Given the description of an element on the screen output the (x, y) to click on. 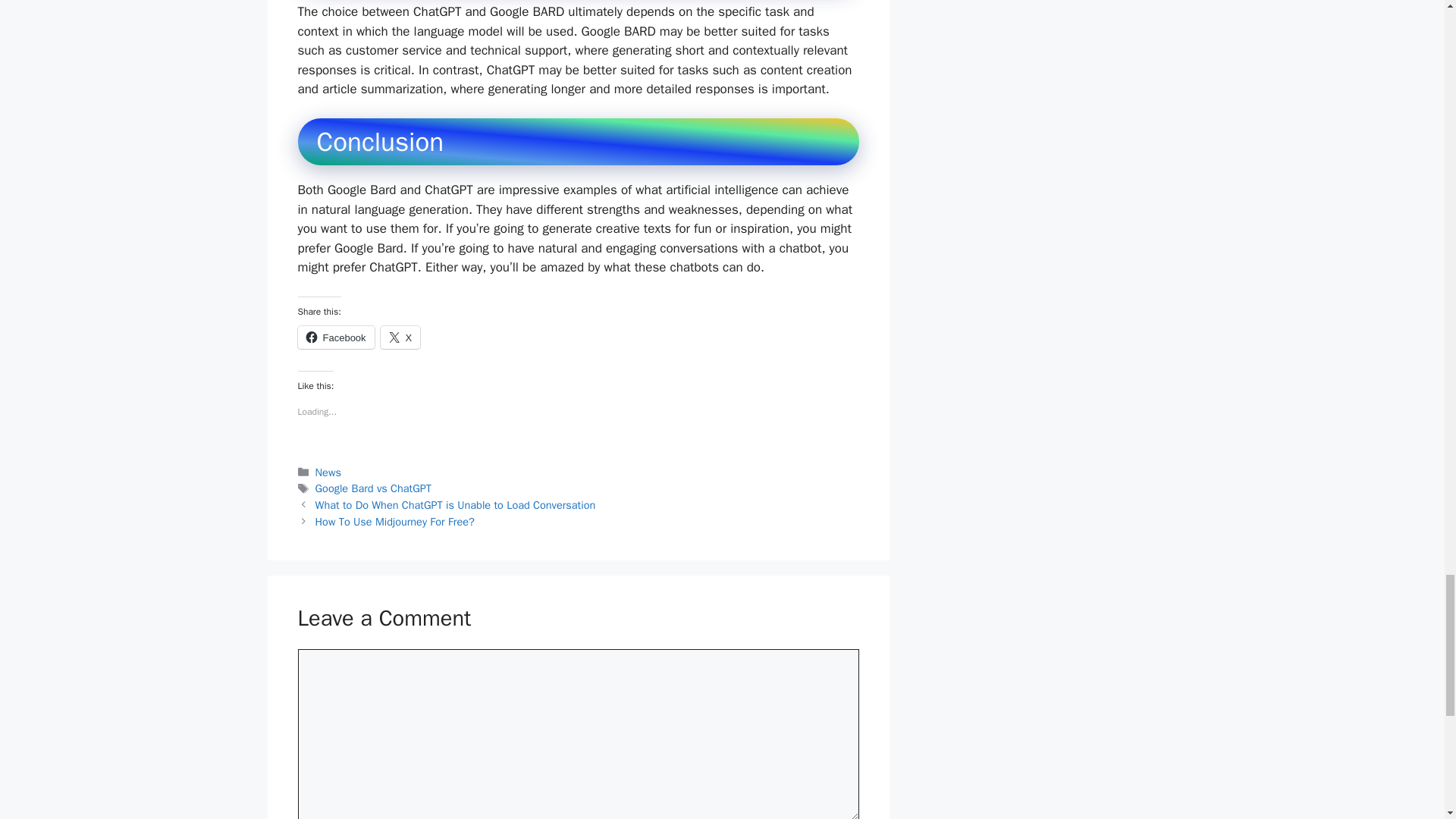
What to Do When ChatGPT is Unable to Load Conversation (455, 504)
Click to share on X (400, 336)
Facebook (335, 336)
Google Bard vs ChatGPT (372, 488)
How To Use Midjourney For Free? (394, 521)
X (400, 336)
News (327, 472)
Click to share on Facebook (335, 336)
